Given the description of an element on the screen output the (x, y) to click on. 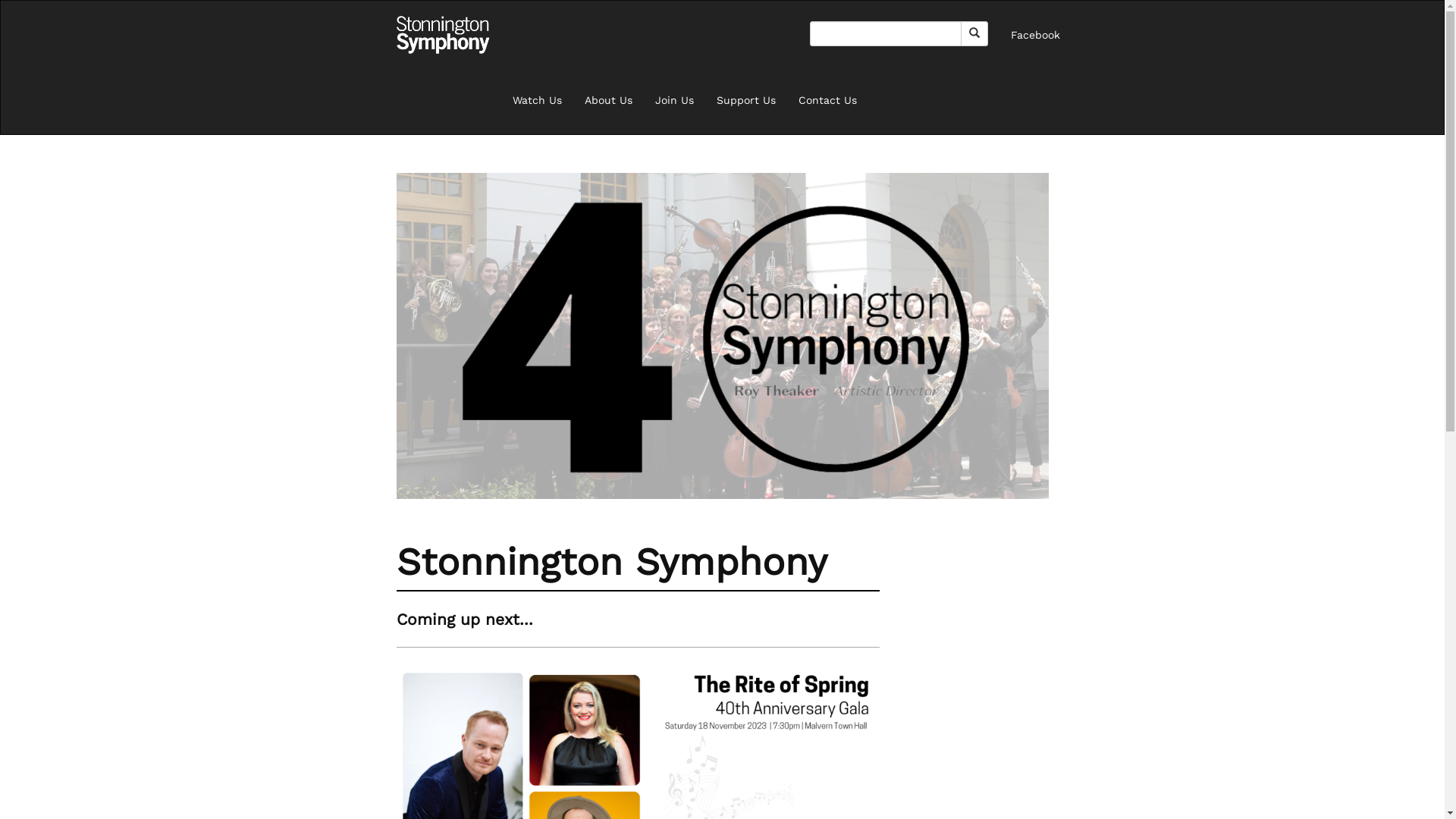
Support Us Element type: text (746, 99)
Facebook Element type: text (1035, 34)
Stonnington Symphony Element type: text (442, 34)
About Us Element type: text (608, 99)
Watch Us Element type: text (536, 99)
Contact Us Element type: text (827, 99)
Join Us Element type: text (673, 99)
